Given the description of an element on the screen output the (x, y) to click on. 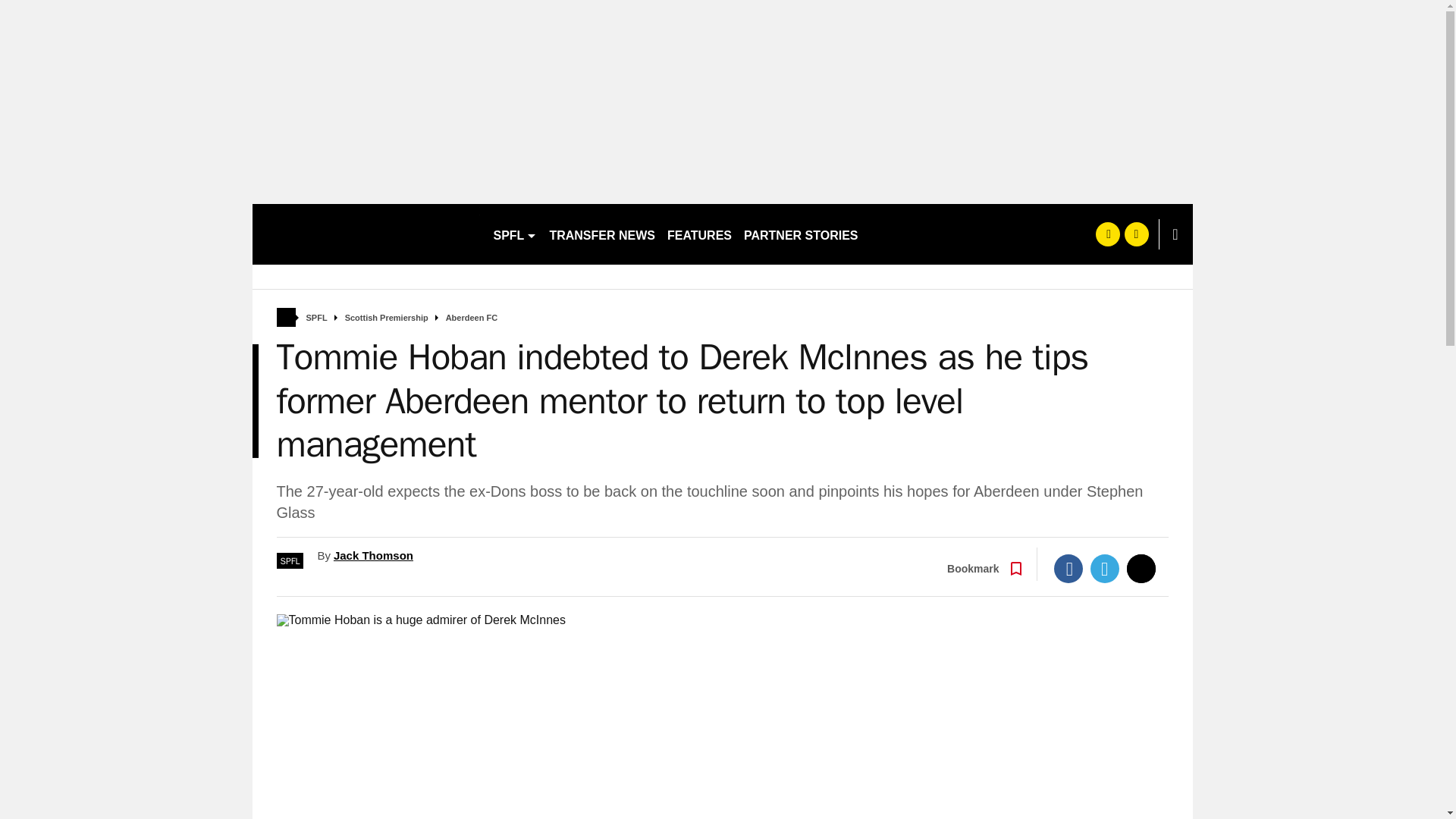
twitter (1136, 233)
FEATURES (699, 233)
SPFL (289, 560)
footballscotland (365, 233)
SPFL (514, 233)
Aberdeen FC (471, 317)
Twitter (1104, 568)
PARTNER STORIES (801, 233)
SPFL (316, 317)
facebook (1106, 233)
frontpage (285, 316)
Facebook (1068, 568)
Scottish Premiership (386, 317)
TRANSFER NEWS (602, 233)
